Given the description of an element on the screen output the (x, y) to click on. 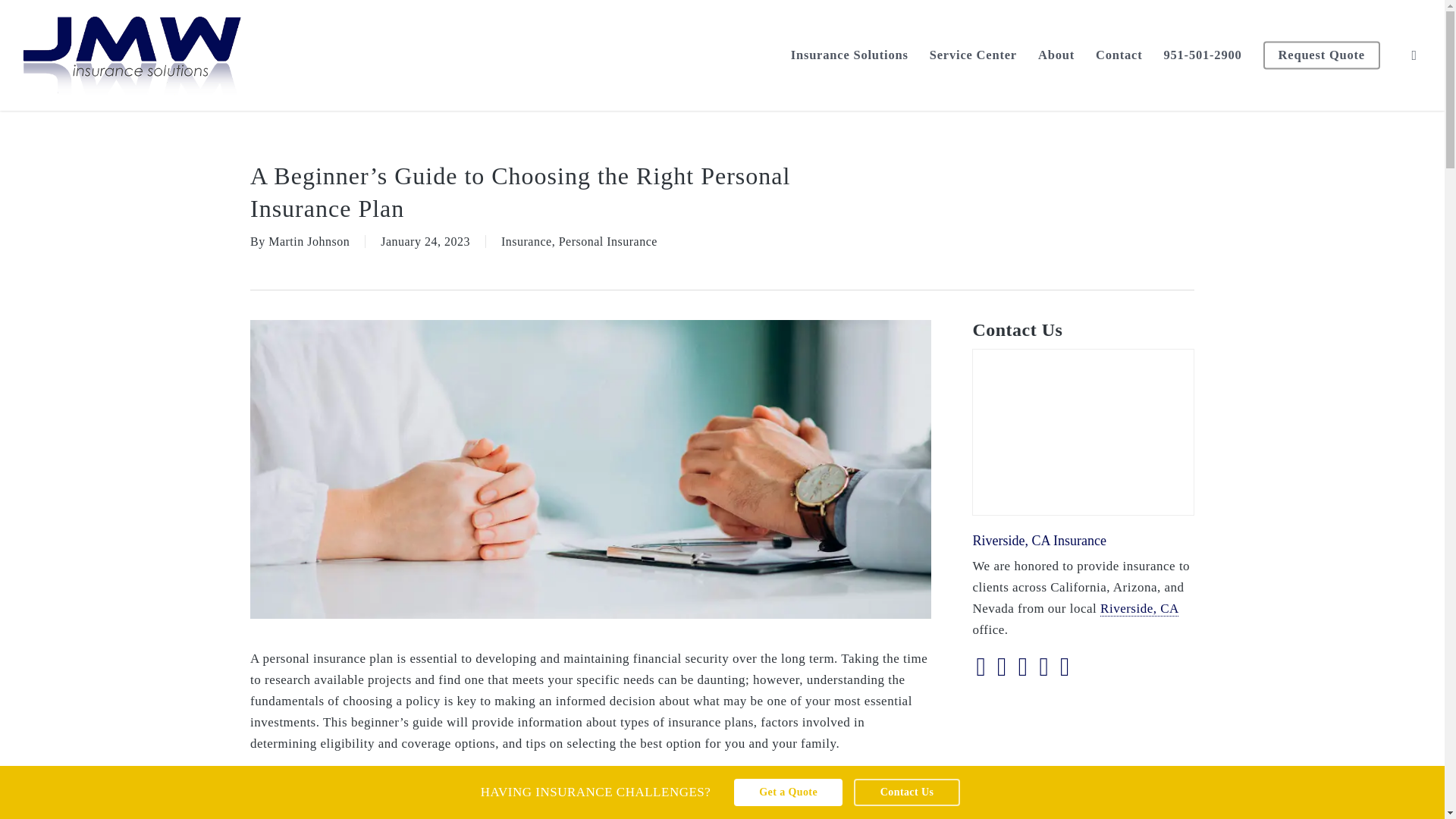
HAVING INSURANCE CHALLENGES? (601, 796)
Contact (1119, 55)
About (1056, 55)
Insurance Solutions (849, 55)
Posts by Martin Johnson (308, 241)
Service Center (973, 55)
